Given the description of an element on the screen output the (x, y) to click on. 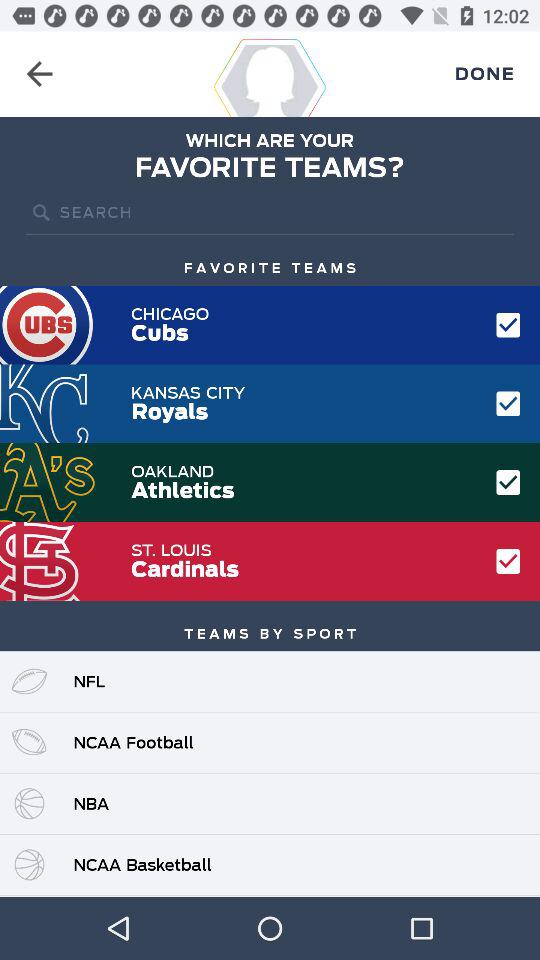
go back (39, 73)
